Given the description of an element on the screen output the (x, y) to click on. 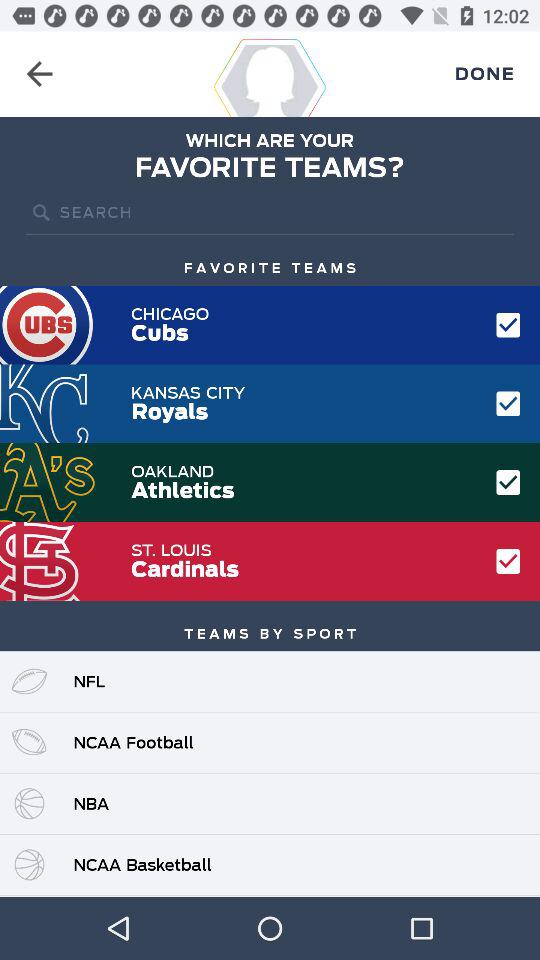
go back (39, 73)
